Given the description of an element on the screen output the (x, y) to click on. 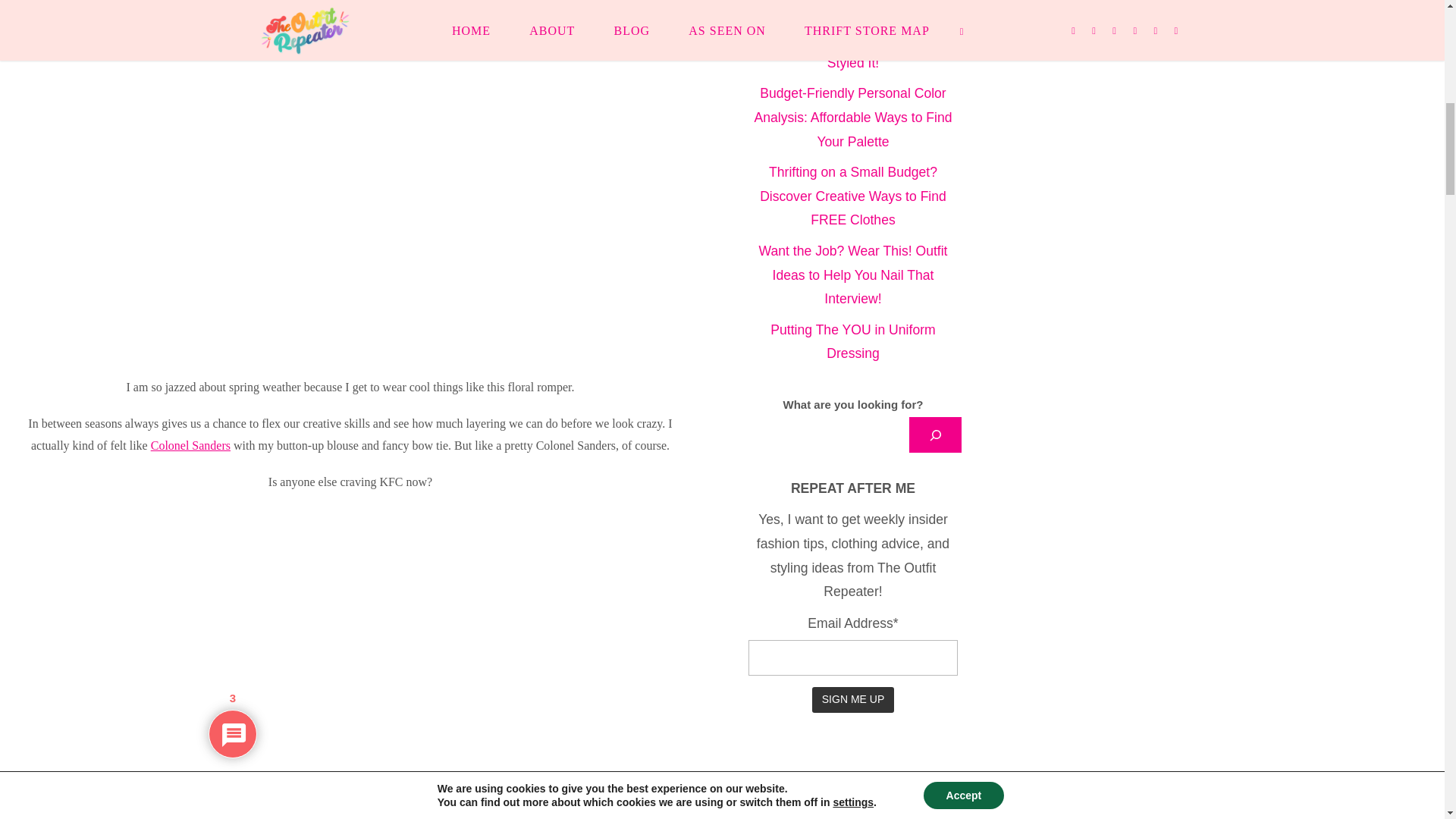
SIGN ME UP (852, 699)
Colonel Sanders (190, 445)
